Given the description of an element on the screen output the (x, y) to click on. 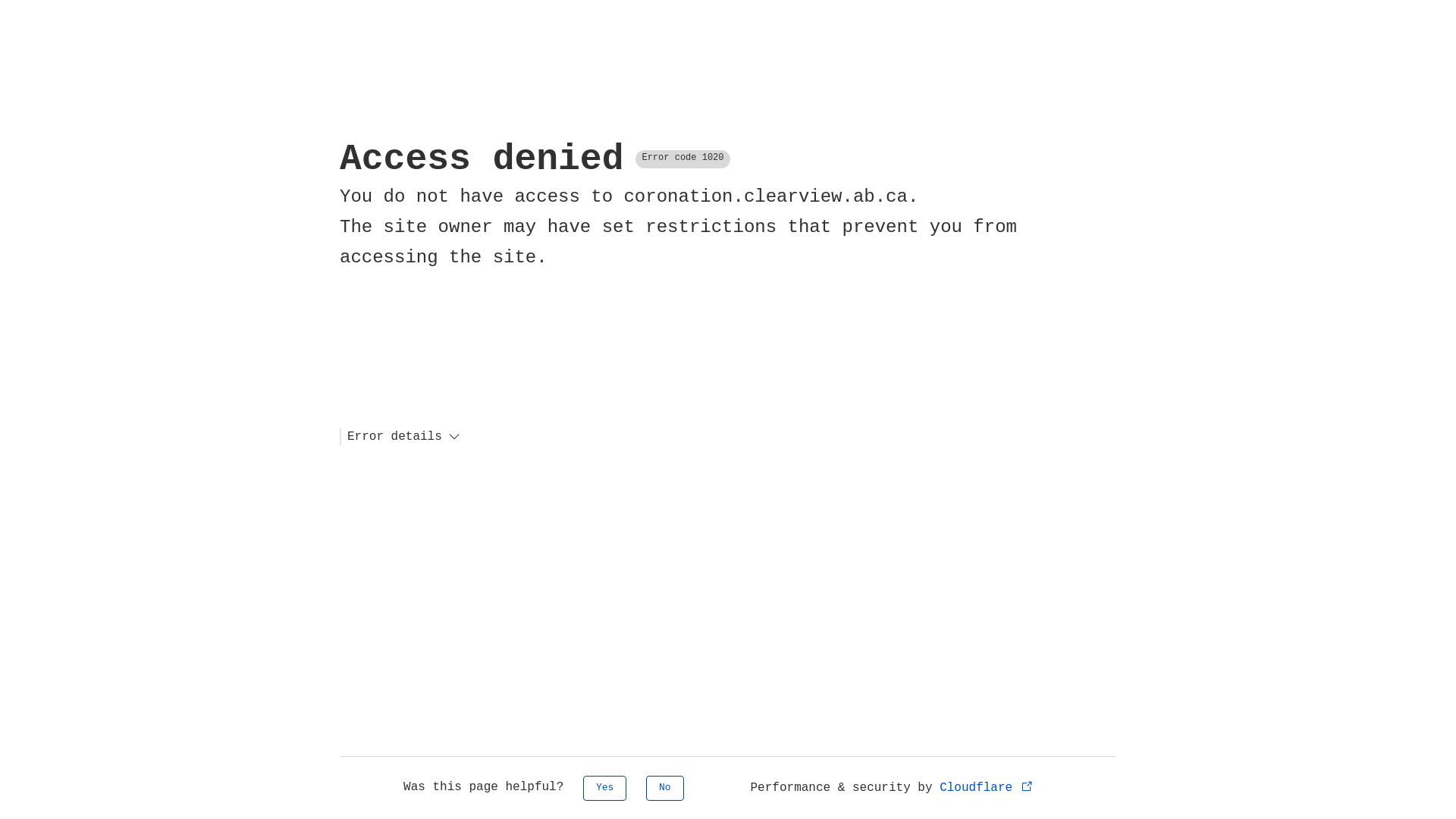
Cloudflare Element type: text (986, 787)
Yes Element type: text (604, 787)
No Element type: text (665, 787)
Opens in new tab Element type: hover (1027, 785)
